Given the description of an element on the screen output the (x, y) to click on. 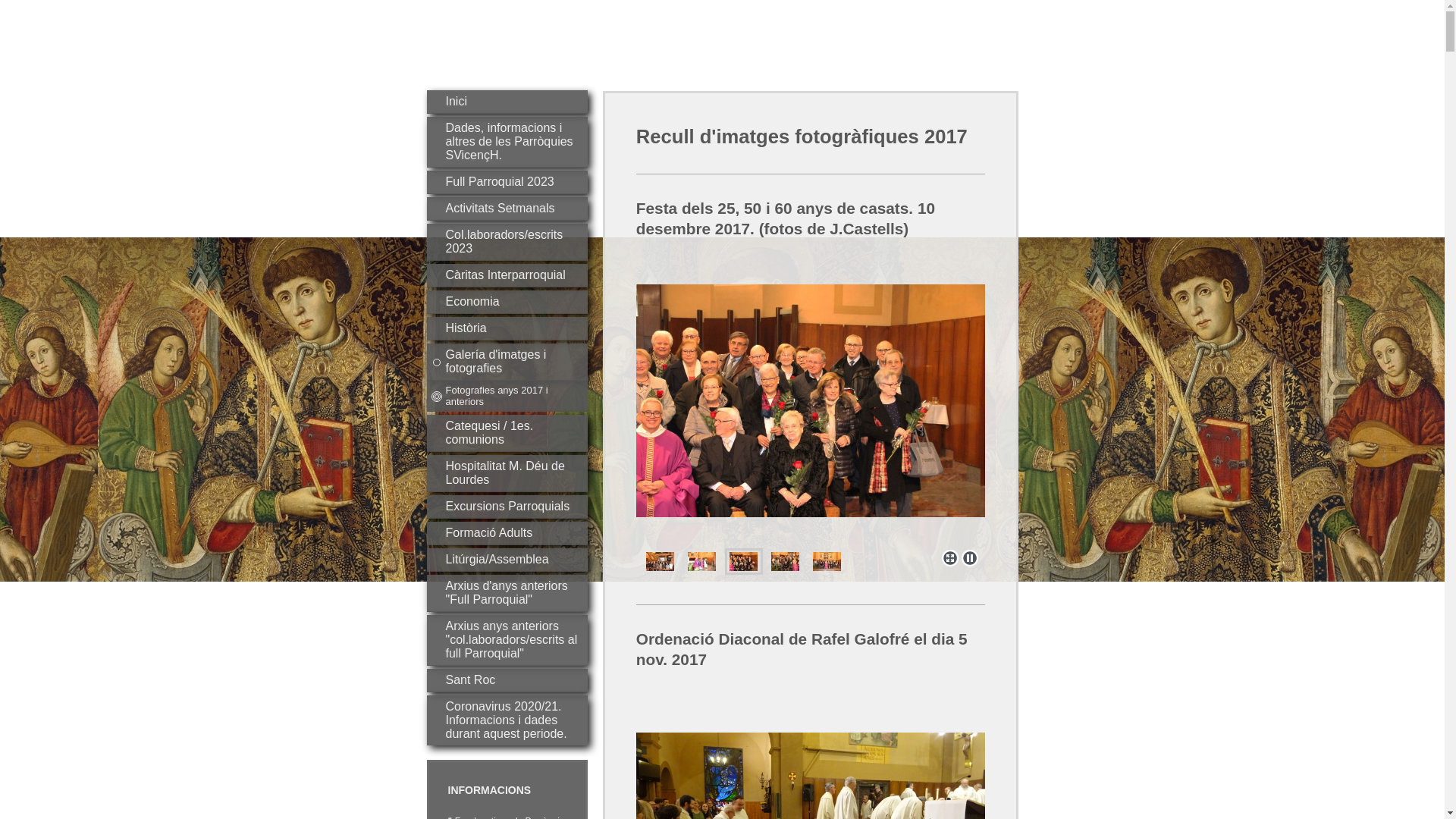
Full Parroquial 2023 Element type: text (506, 182)
Inici Element type: text (506, 101)
Col.laboradors/escrits 2023 Element type: text (506, 241)
Arxius d'anys anteriors "Full Parroquial" Element type: text (506, 592)
Fotografies anys 2017 i anteriors Element type: text (506, 395)
Sant Roc Element type: text (506, 680)
Catequesi / 1es. comunions Element type: text (506, 432)
Economia Element type: text (506, 301)
Activitats Setmanals Element type: text (506, 208)
Excursions Parroquials Element type: text (506, 506)
